Given the description of an element on the screen output the (x, y) to click on. 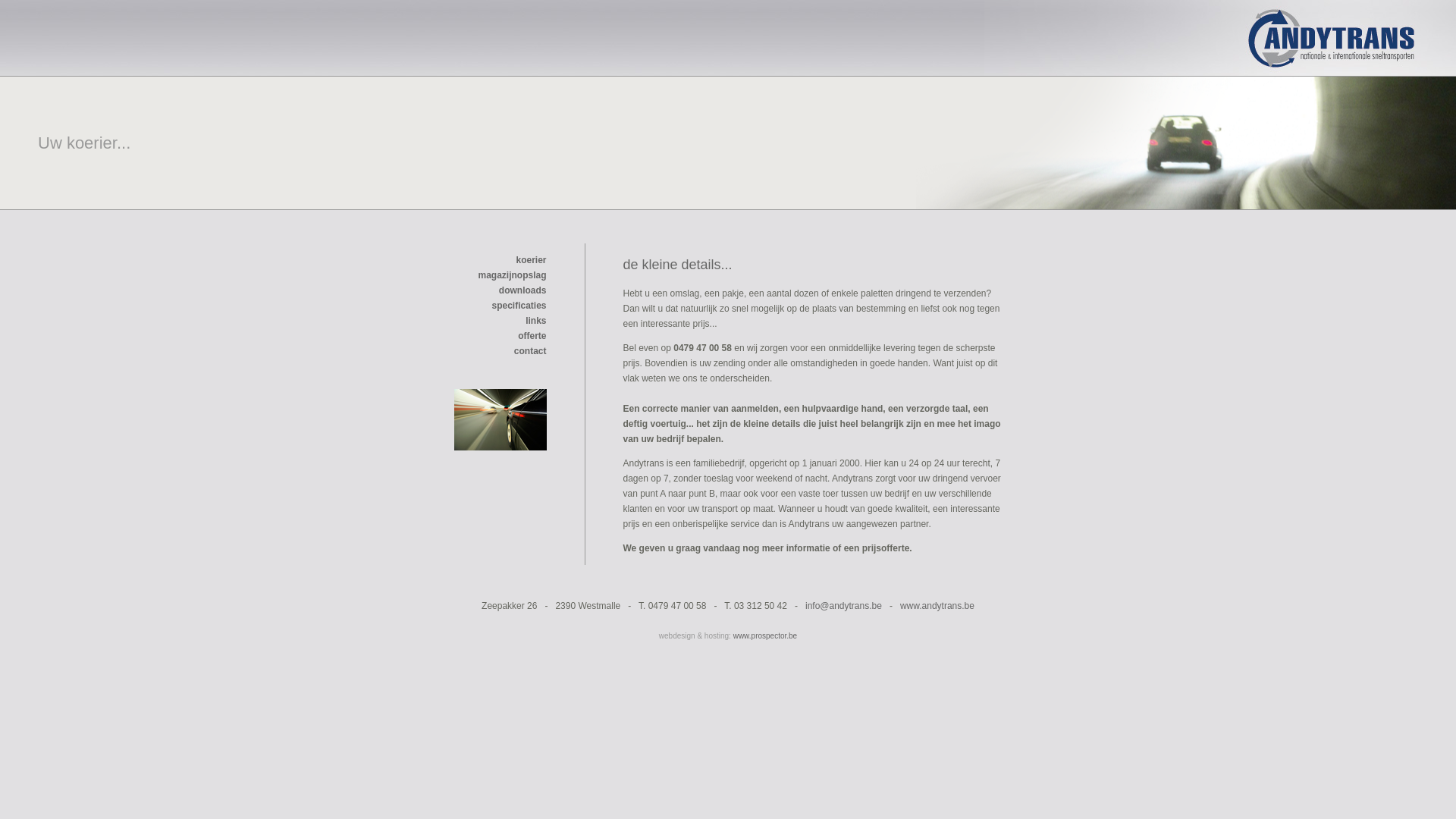
downloads Element type: text (522, 290)
links Element type: text (535, 320)
www.andytrans.be Element type: text (937, 605)
magazijnopslag Element type: text (511, 282)
koerier Element type: text (530, 259)
www.prospector.be Element type: text (765, 635)
contact Element type: text (530, 350)
info@andytrans.be Element type: text (843, 605)
offerte Element type: text (531, 335)
specificaties Element type: text (518, 305)
